Given the description of an element on the screen output the (x, y) to click on. 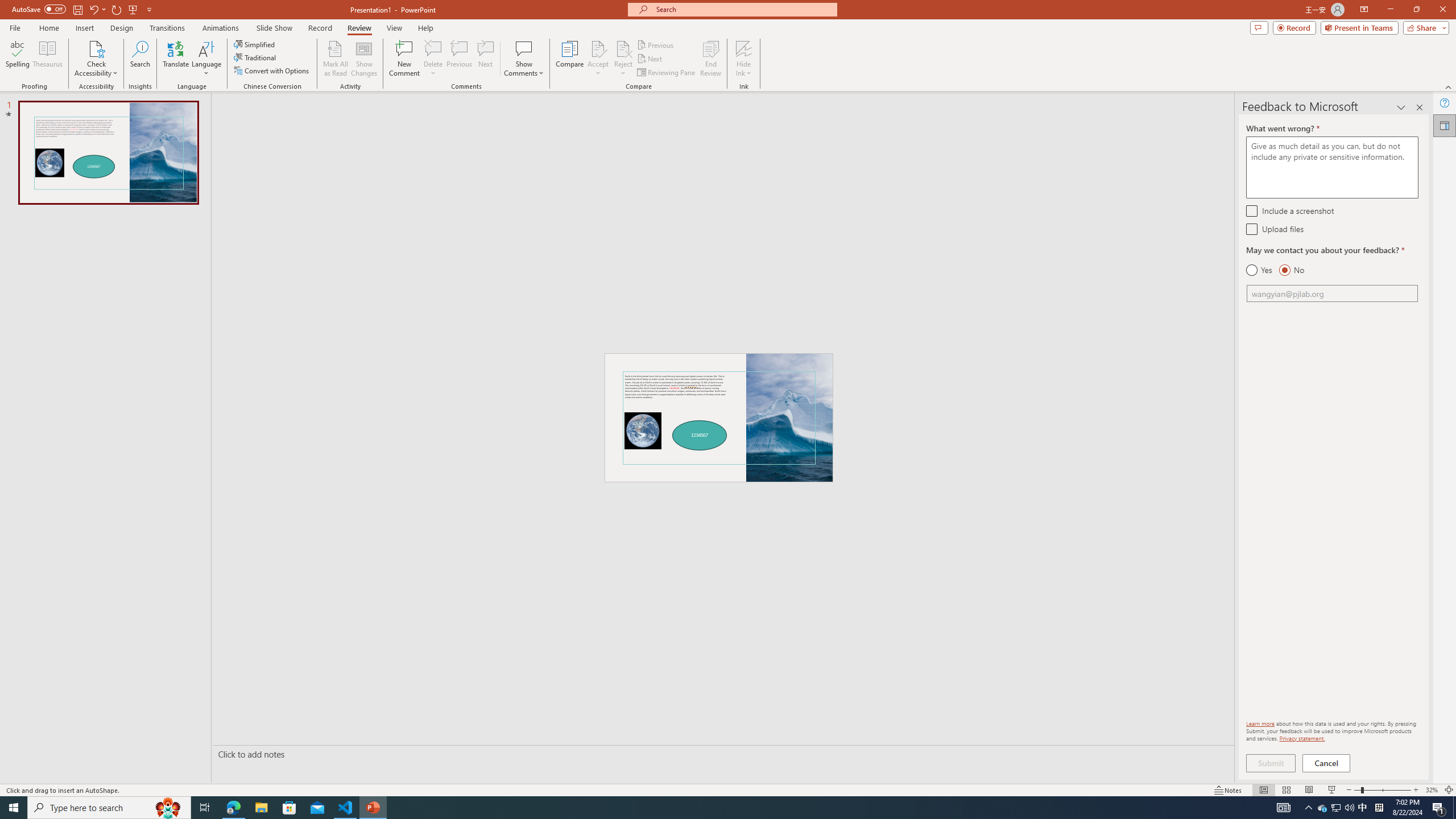
Simplified (254, 44)
Mark All as Read (335, 58)
Accept Change (598, 48)
Spelling... (17, 58)
Learn more (1260, 723)
